Given the description of an element on the screen output the (x, y) to click on. 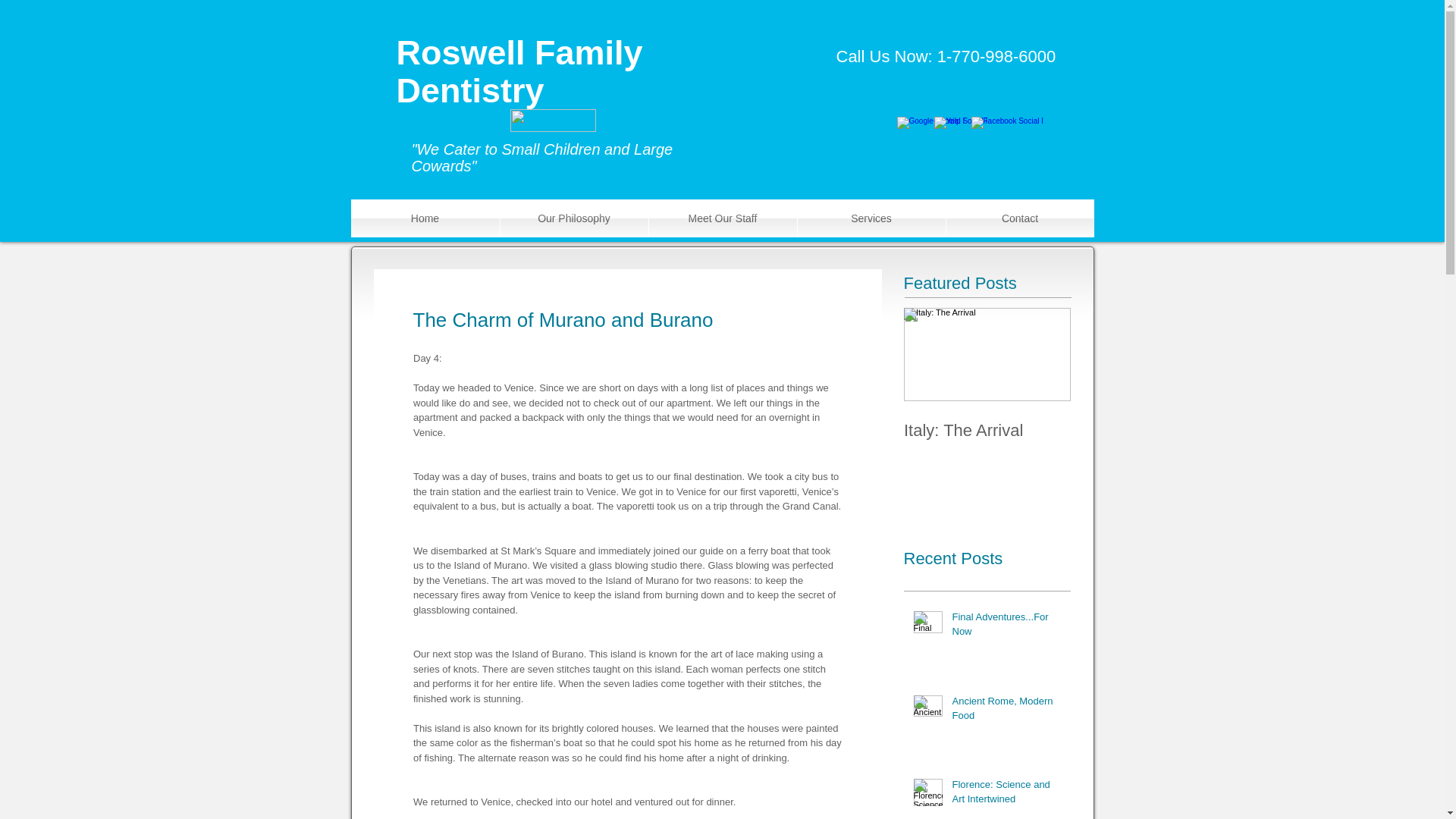
Services (870, 218)
"We Cater to Small Children and Large Cowards" (541, 157)
Ancient Rome, Modern Food (1006, 711)
Florence: Science and Art Intertwined (1006, 794)
Italy: The Arrival (987, 414)
Meet Our Staff (722, 218)
Roswell Family Dentistry (519, 71)
Home (424, 218)
Our Philosophy (573, 218)
Italy: The Arrival (987, 430)
Final Adventures...For Now (1006, 626)
Contact (1020, 218)
Italy: The Arrival (987, 414)
